Given the description of an element on the screen output the (x, y) to click on. 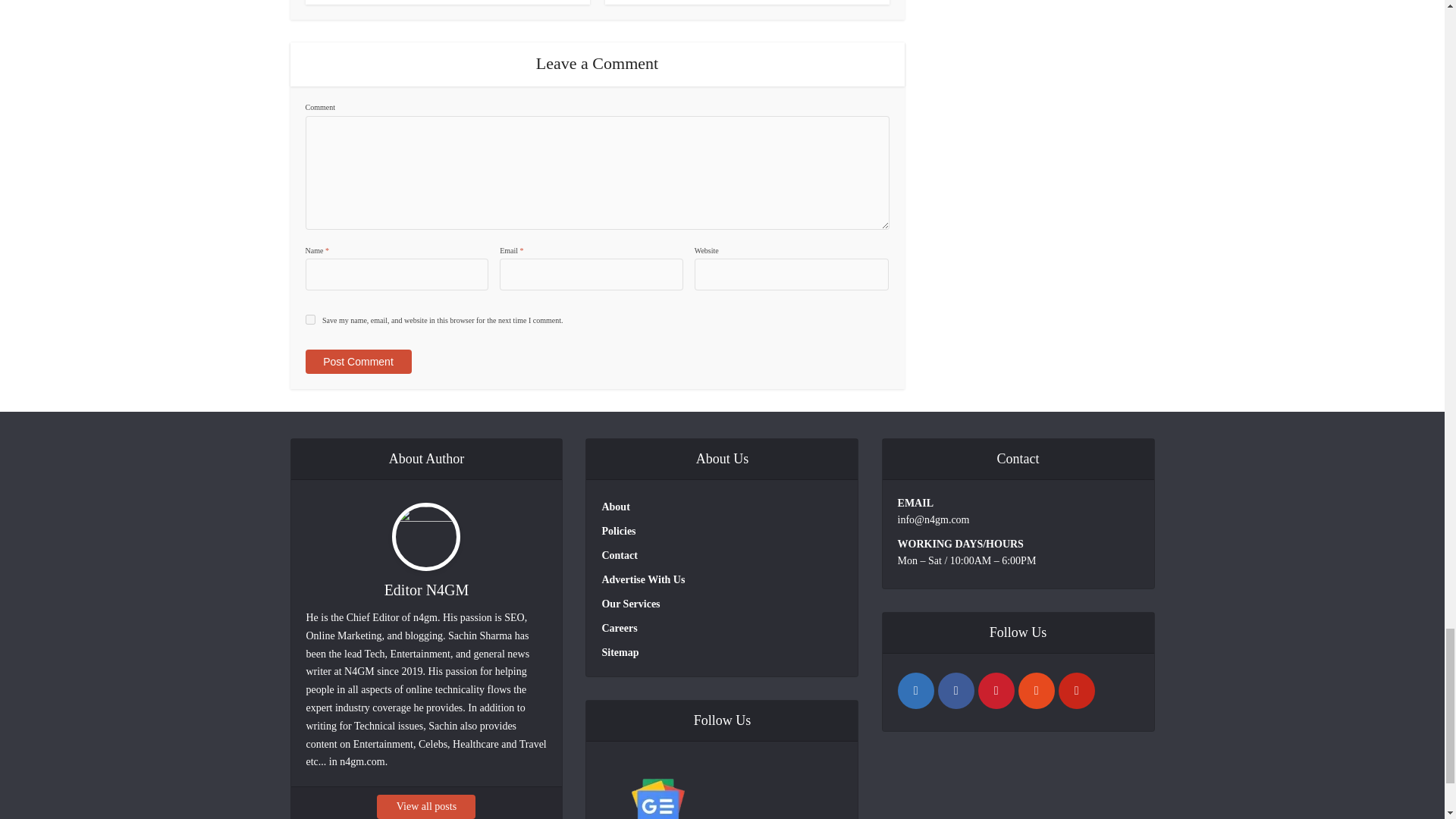
yes (309, 319)
Post Comment (357, 361)
